Given the description of an element on the screen output the (x, y) to click on. 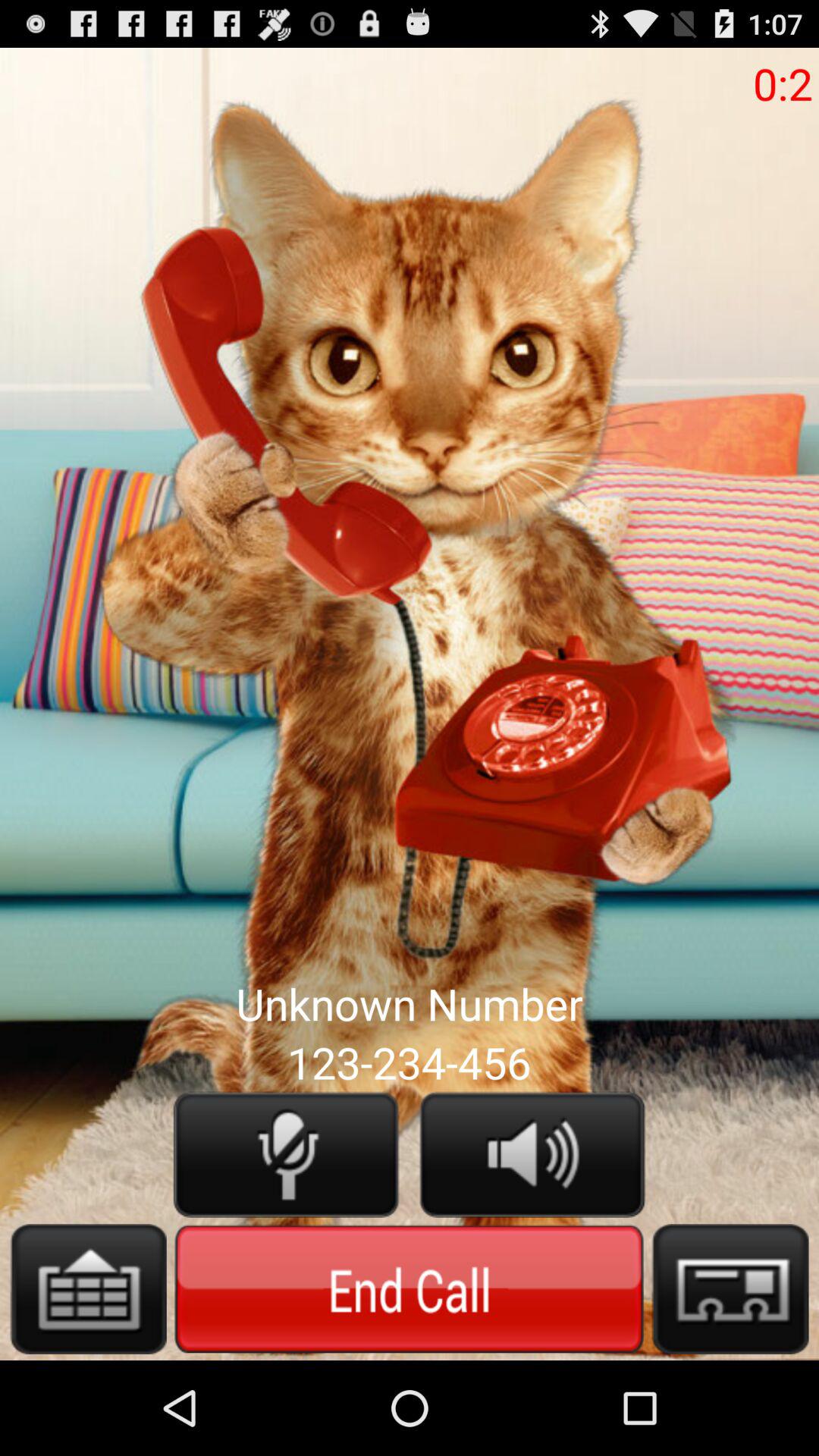
open keyboard (88, 1288)
